Given the description of an element on the screen output the (x, y) to click on. 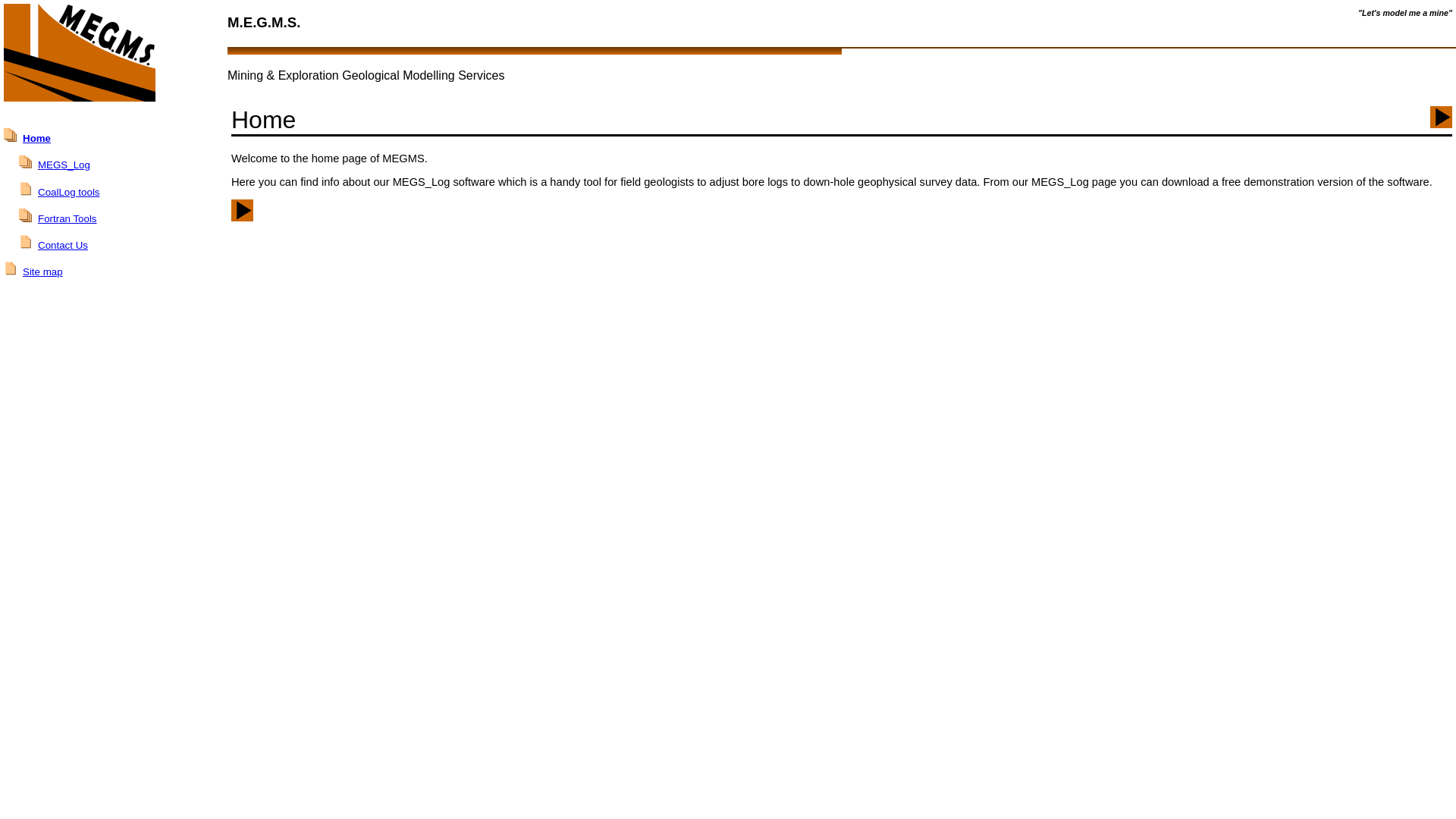
Contact Us Element type: text (62, 245)
MEGS_Log Element type: text (63, 164)
Site map Element type: text (42, 271)
CoalLog tools Element type: text (68, 191)
MEGMS logo - go to the home page Element type: text (113, 53)
Home Element type: text (36, 138)
Fortran Tools Element type: text (67, 218)
